Given the description of an element on the screen output the (x, y) to click on. 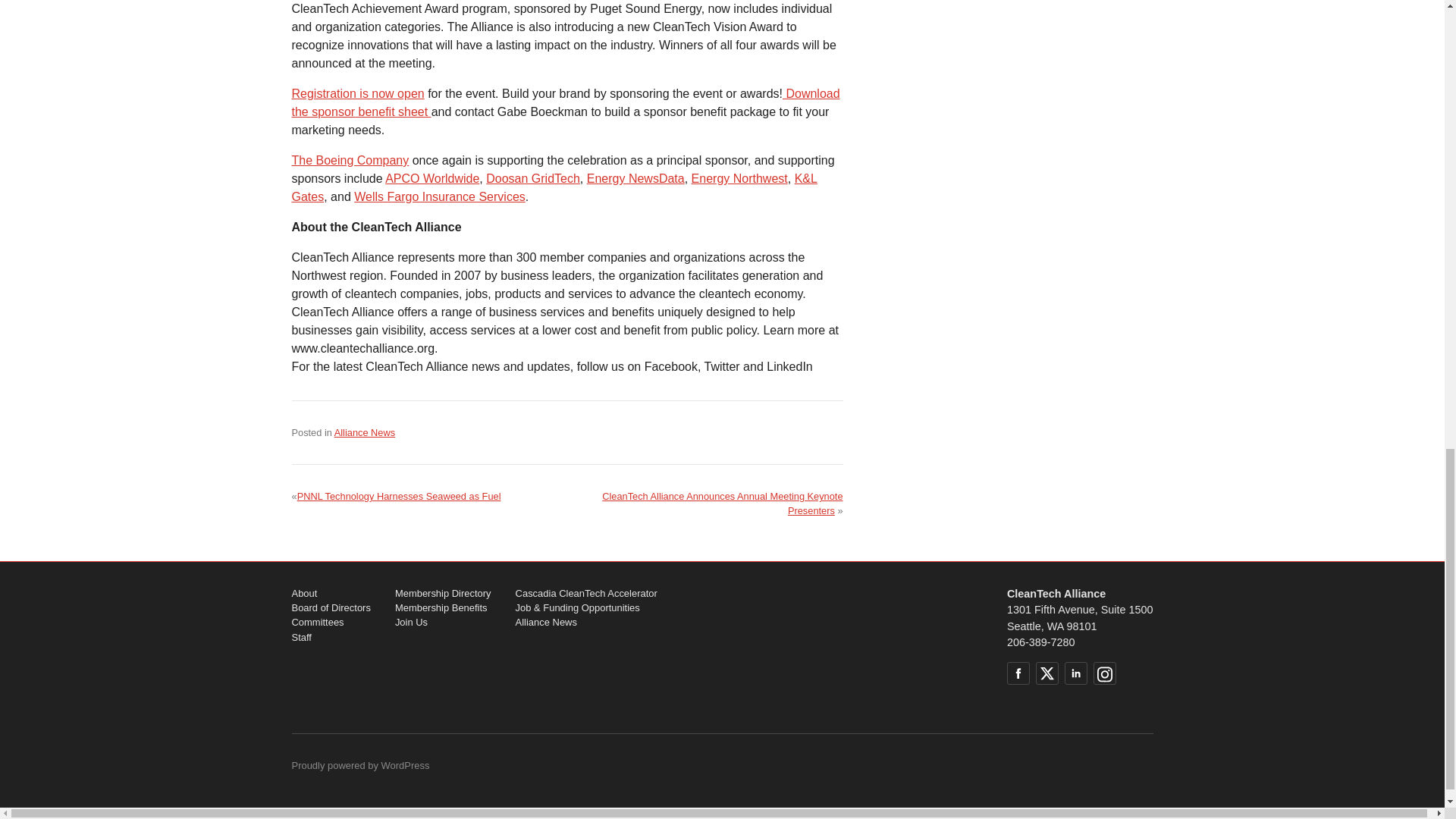
Visit CleanTech Alliance on Facebook (1018, 672)
Vist CleanTech Alliance on Instagram (1104, 672)
Visit CleanTech Alliance on Twitter (1046, 672)
Vist CleanTech Alliance on LinkedIn (1075, 672)
